Given the description of an element on the screen output the (x, y) to click on. 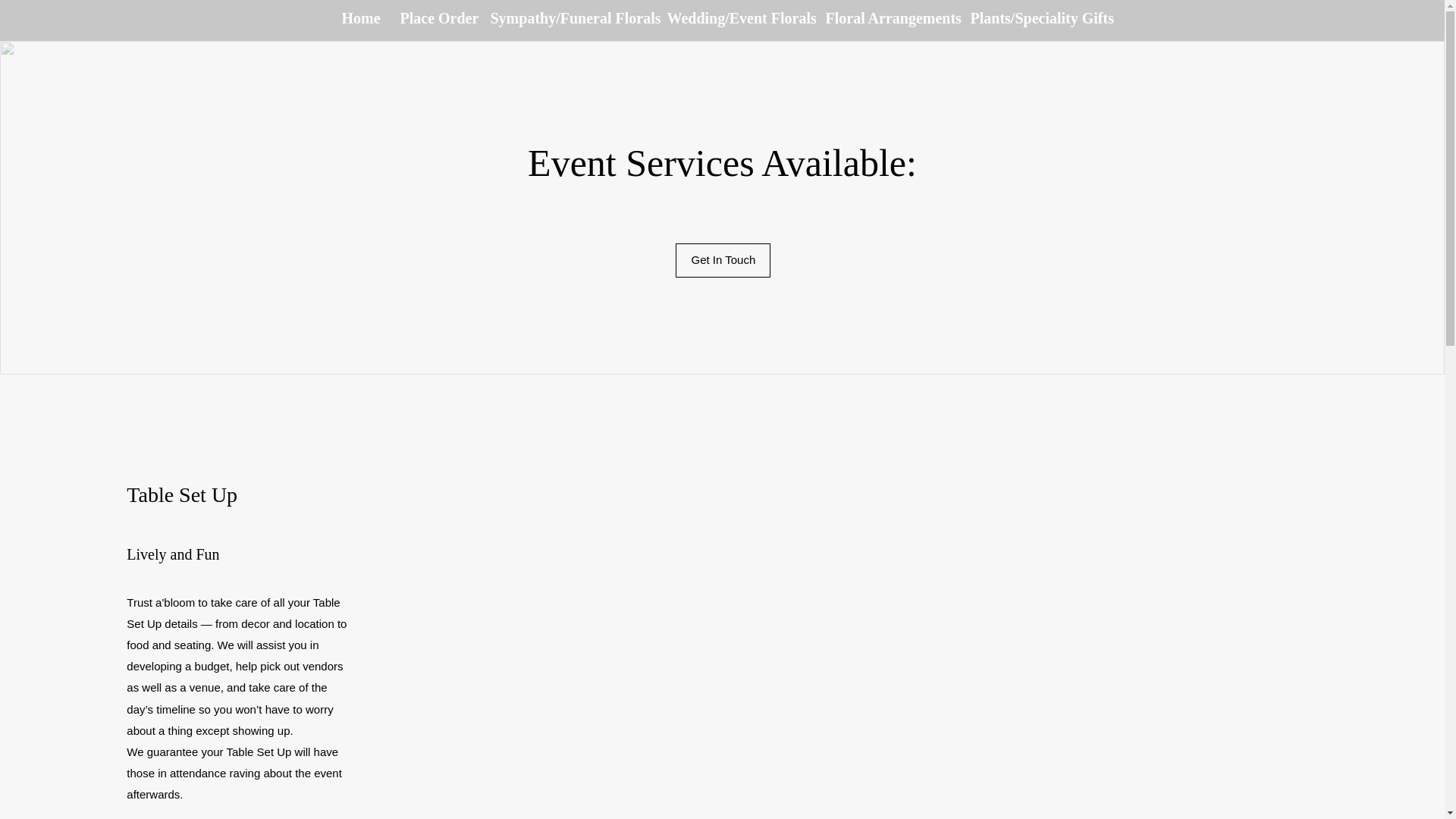
Floral Arrangements (886, 18)
Get In Touch (722, 260)
Home (359, 18)
Place Order (433, 18)
